Given the description of an element on the screen output the (x, y) to click on. 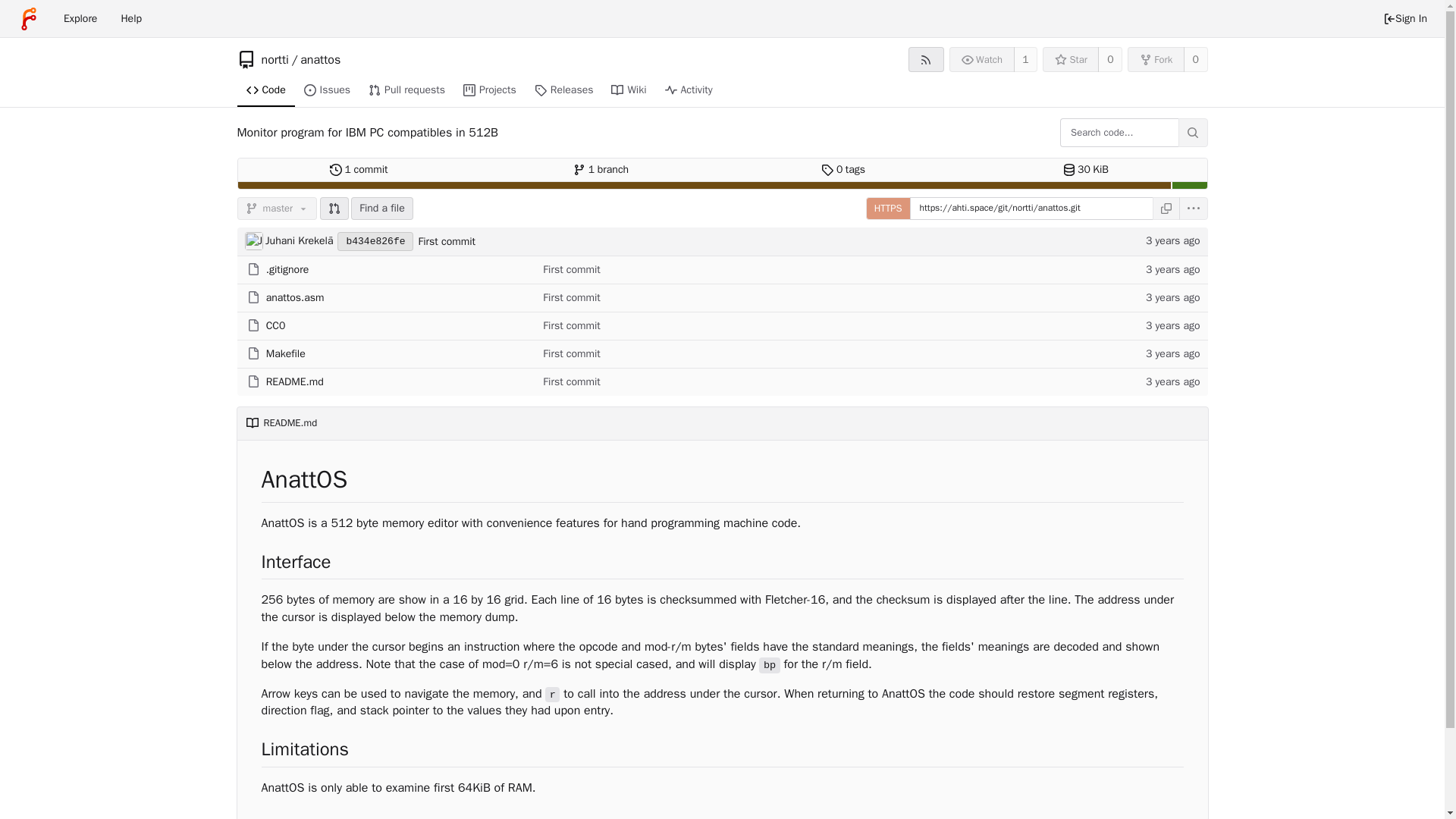
Projects (489, 91)
0 (1195, 59)
Wiki (628, 91)
Star (601, 169)
Issues (1070, 59)
anattos.asm (327, 91)
README.md (295, 297)
Explore (294, 381)
Find a file (79, 17)
Makefile (381, 208)
Watch (285, 353)
Help (981, 59)
nortti (130, 17)
